Given the description of an element on the screen output the (x, y) to click on. 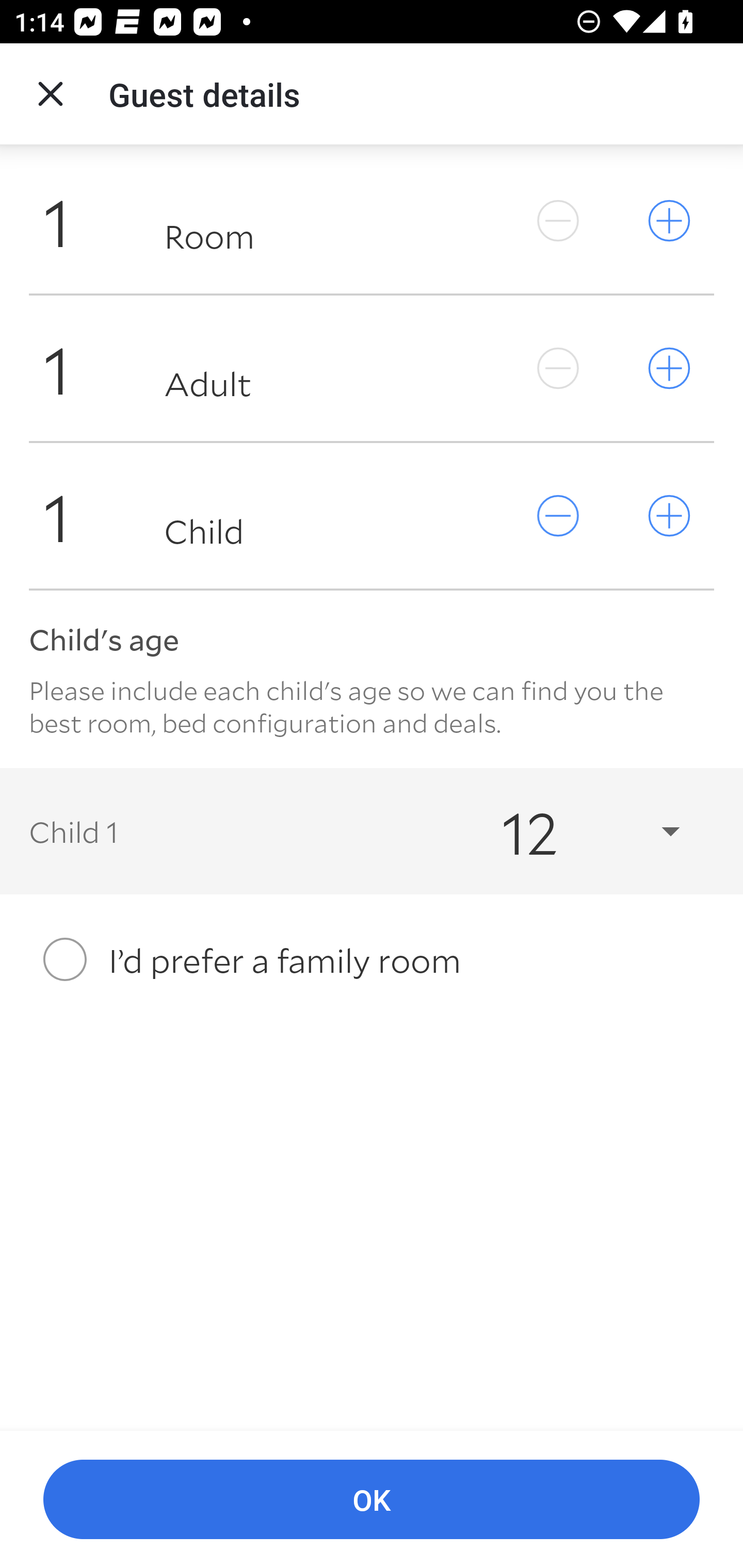
12 (573, 830)
I’d prefer a family room (371, 959)
OK (371, 1499)
